Given the description of an element on the screen output the (x, y) to click on. 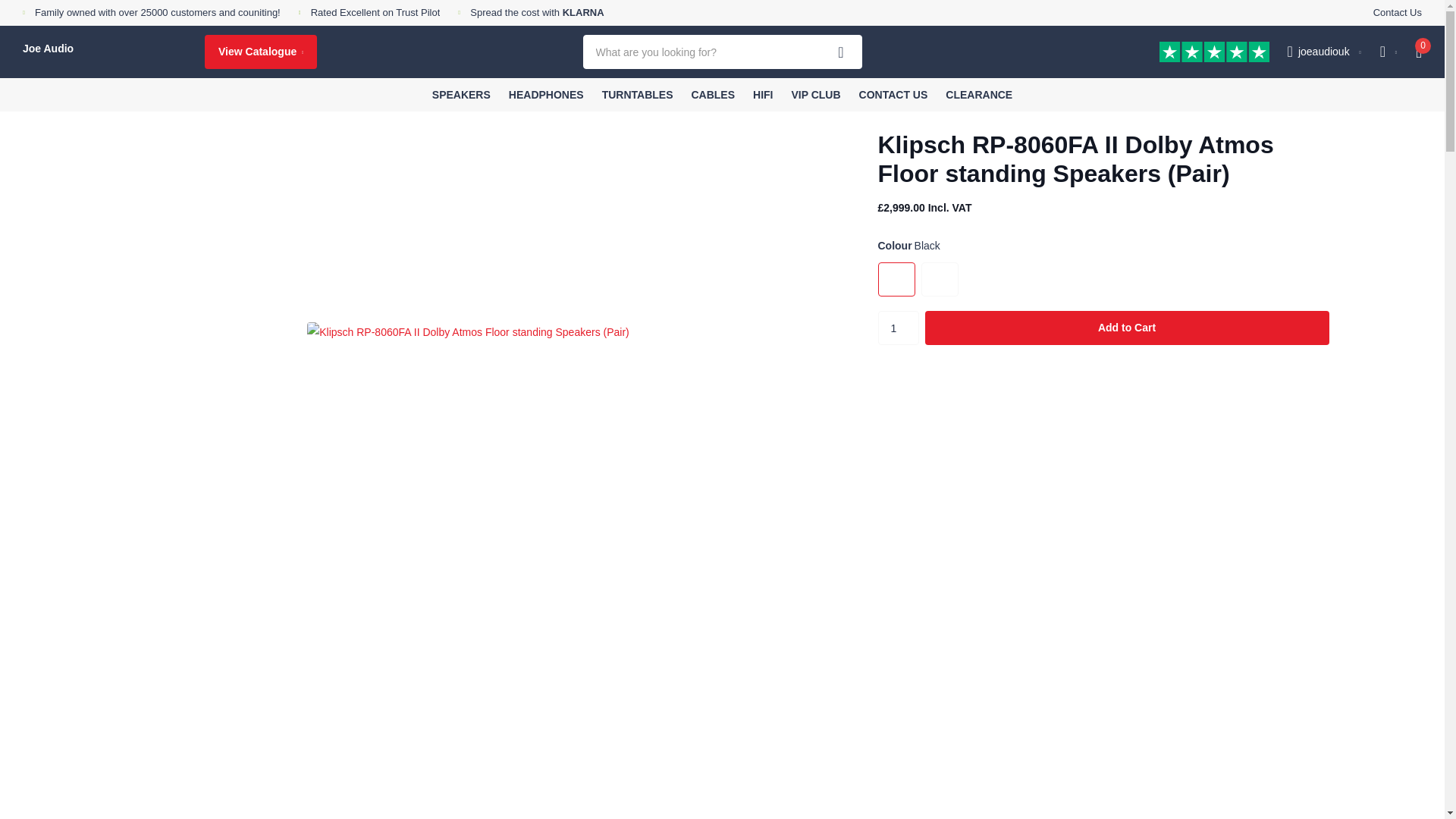
SPEAKERS (461, 94)
Zoeken (841, 51)
joeaudiouk (1324, 51)
View Catalogue (261, 51)
TURNTABLES (637, 94)
1 (897, 327)
HEADPHONES (545, 94)
Contact Us (1397, 12)
Joe Audio Trust Pilot (376, 12)
Rated Excellent on Trust Pilot (376, 12)
